Given the description of an element on the screen output the (x, y) to click on. 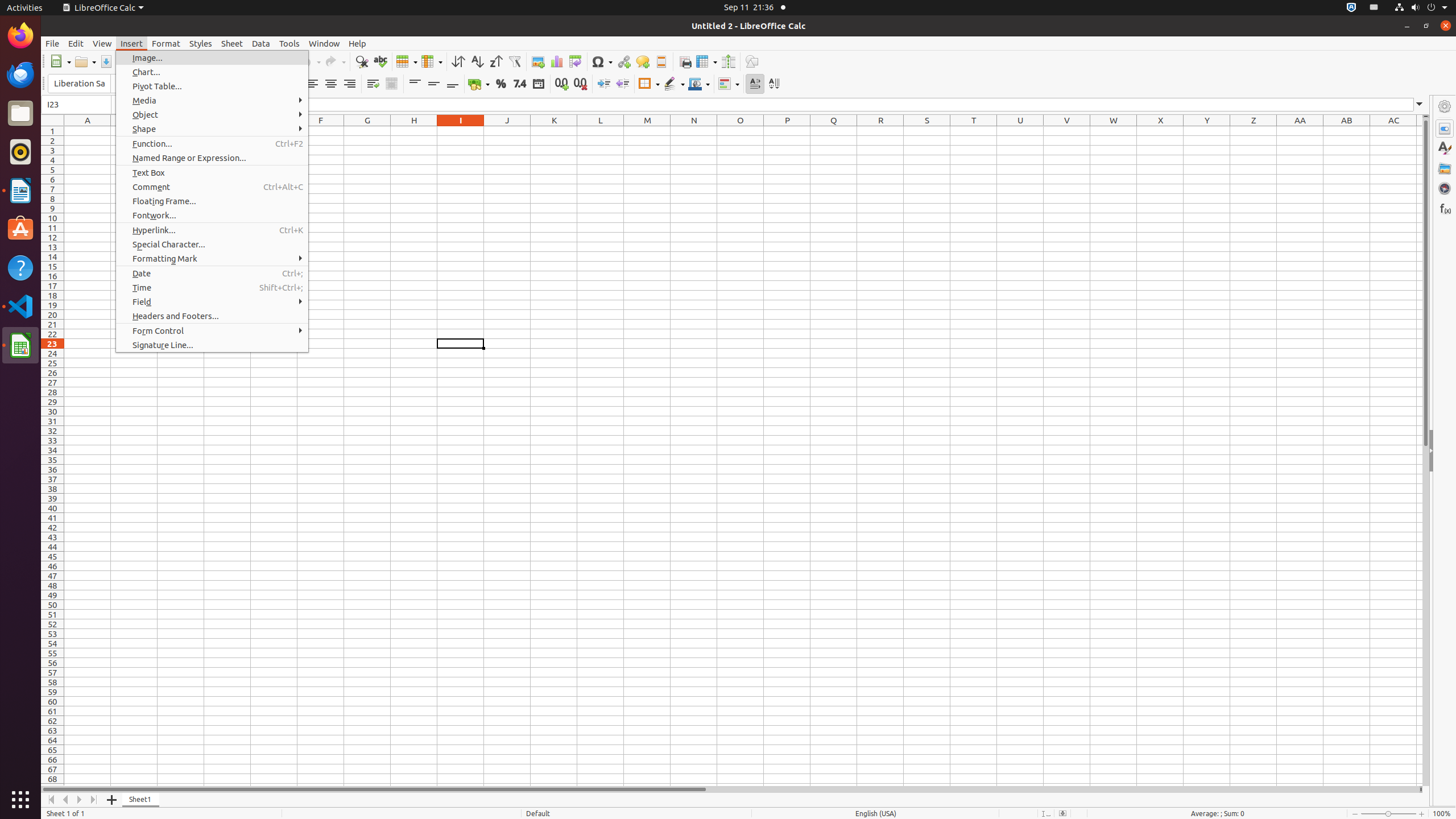
Data Element type: menu (260, 43)
View Element type: menu (102, 43)
Spelling Element type: push-button (379, 61)
Tools Element type: menu (289, 43)
